Given the description of an element on the screen output the (x, y) to click on. 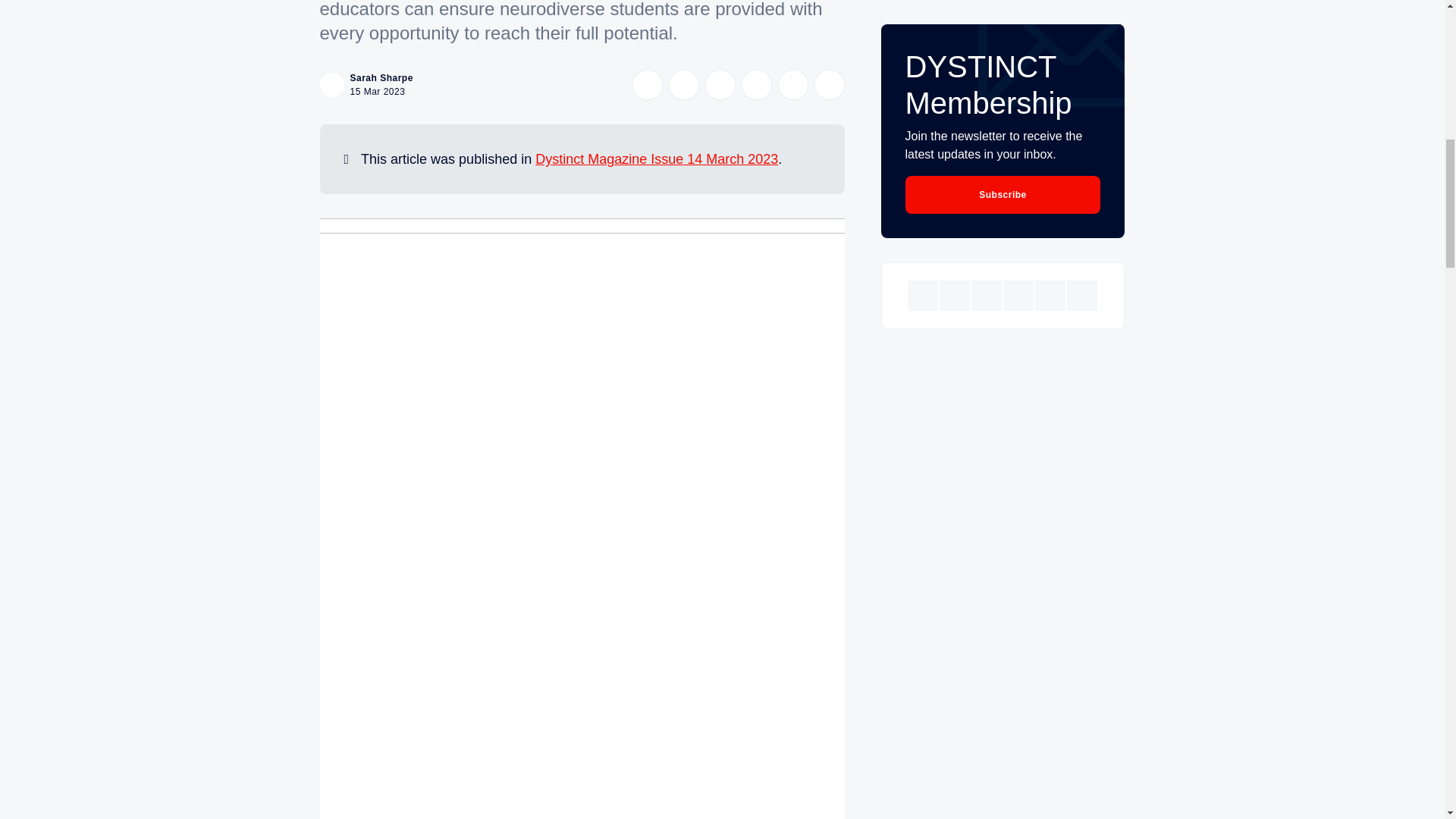
Sarah Sharpe (381, 77)
Dystinct Magazine Issue 14 March 2023 (656, 159)
Share via Email (792, 84)
Share on LinkedIn (719, 84)
Share on Twitter (646, 84)
Share on Pinterest (756, 84)
Share on Facebook (683, 84)
Copy link (828, 84)
